Given the description of an element on the screen output the (x, y) to click on. 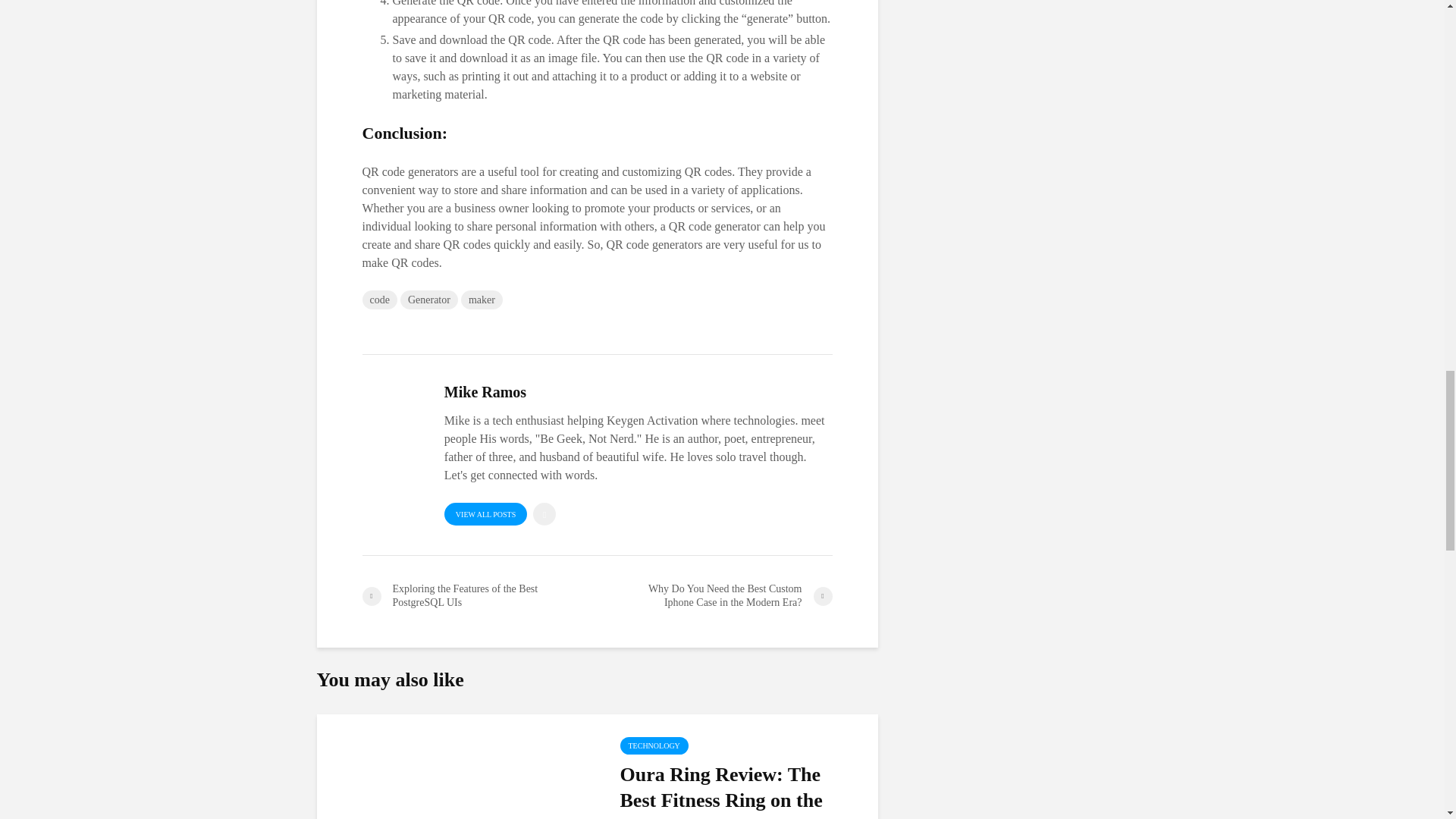
Generator (429, 299)
VIEW ALL POSTS (485, 513)
TECHNOLOGY (654, 745)
Oura Ring Review: The Best Fitness Ring on the Market (740, 790)
maker (481, 299)
Exploring the Features of the Best PostgreSQL UIs (479, 595)
code (379, 299)
